Given the description of an element on the screen output the (x, y) to click on. 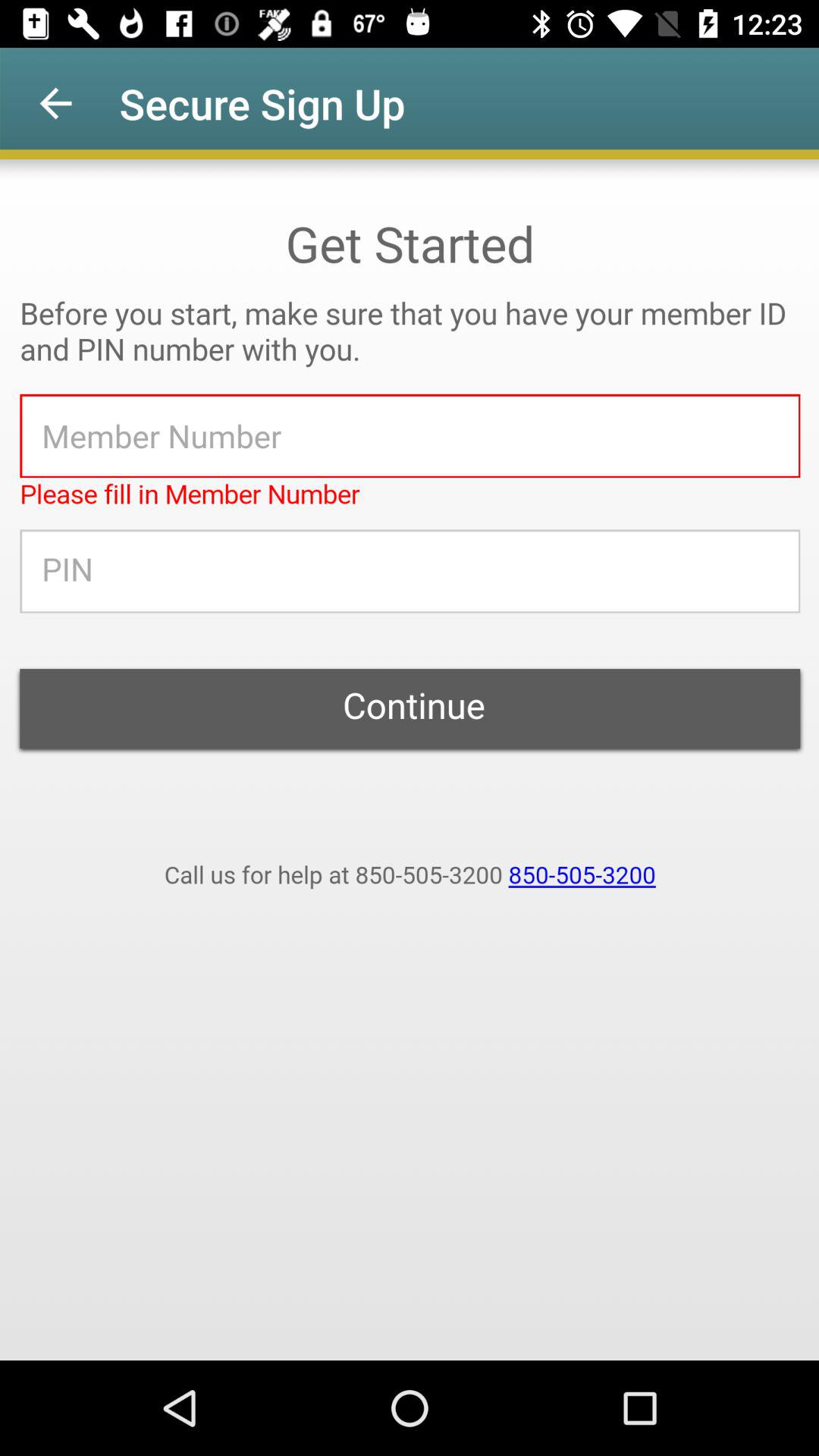
not specify one descriptive (409, 759)
